Given the description of an element on the screen output the (x, y) to click on. 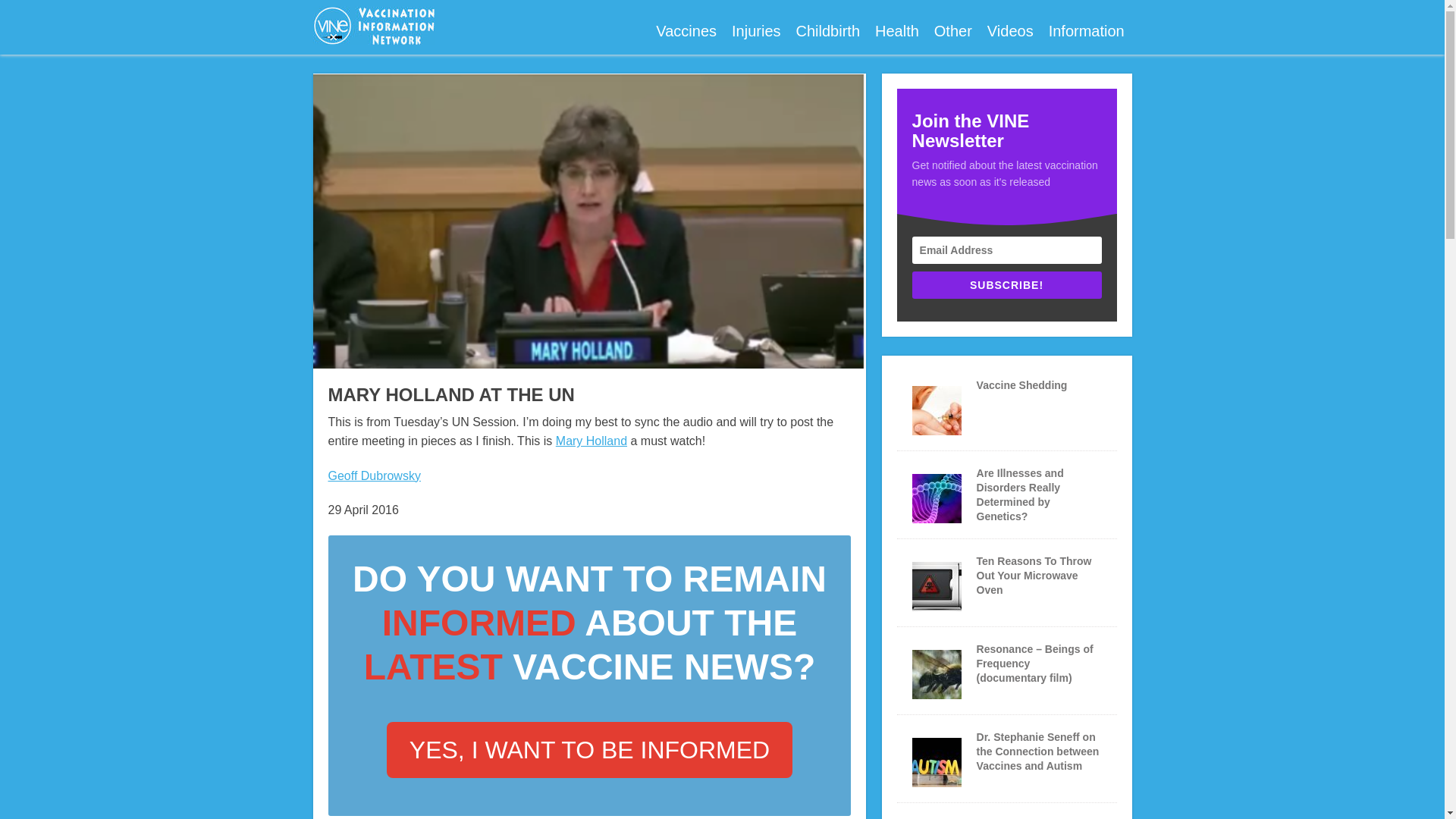
Health (896, 31)
YES, I WANT TO BE INFORMED (589, 749)
Childbirth (828, 31)
Are Illnesses and Disorders Really Determined by Genetics? (1020, 494)
Ten Reasons To Throw Out Your Microwave Oven (1034, 576)
SUBSCRIBE! (1007, 284)
Geoff Dubrowsky (373, 475)
Vaccines (685, 31)
Mary Holland (591, 440)
